Given the description of an element on the screen output the (x, y) to click on. 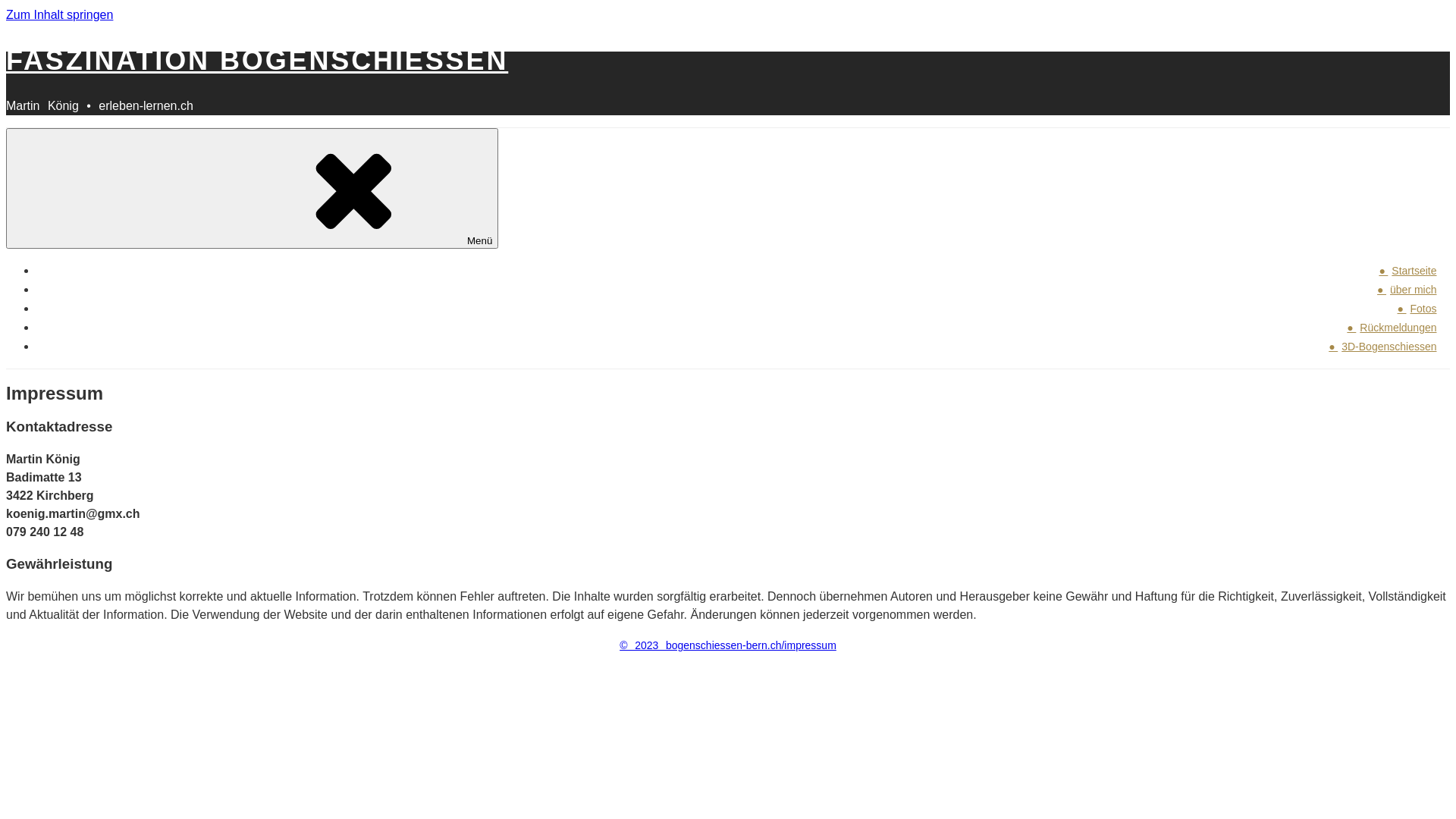
Fotos Element type: text (1423, 308)
Zum Inhalt springen Element type: text (59, 14)
Startseite Element type: text (1413, 270)
3D-Bogenschiessen Element type: text (1388, 346)
FASZINATION BOGENSCHIESSEN Element type: text (257, 59)
